Given the description of an element on the screen output the (x, y) to click on. 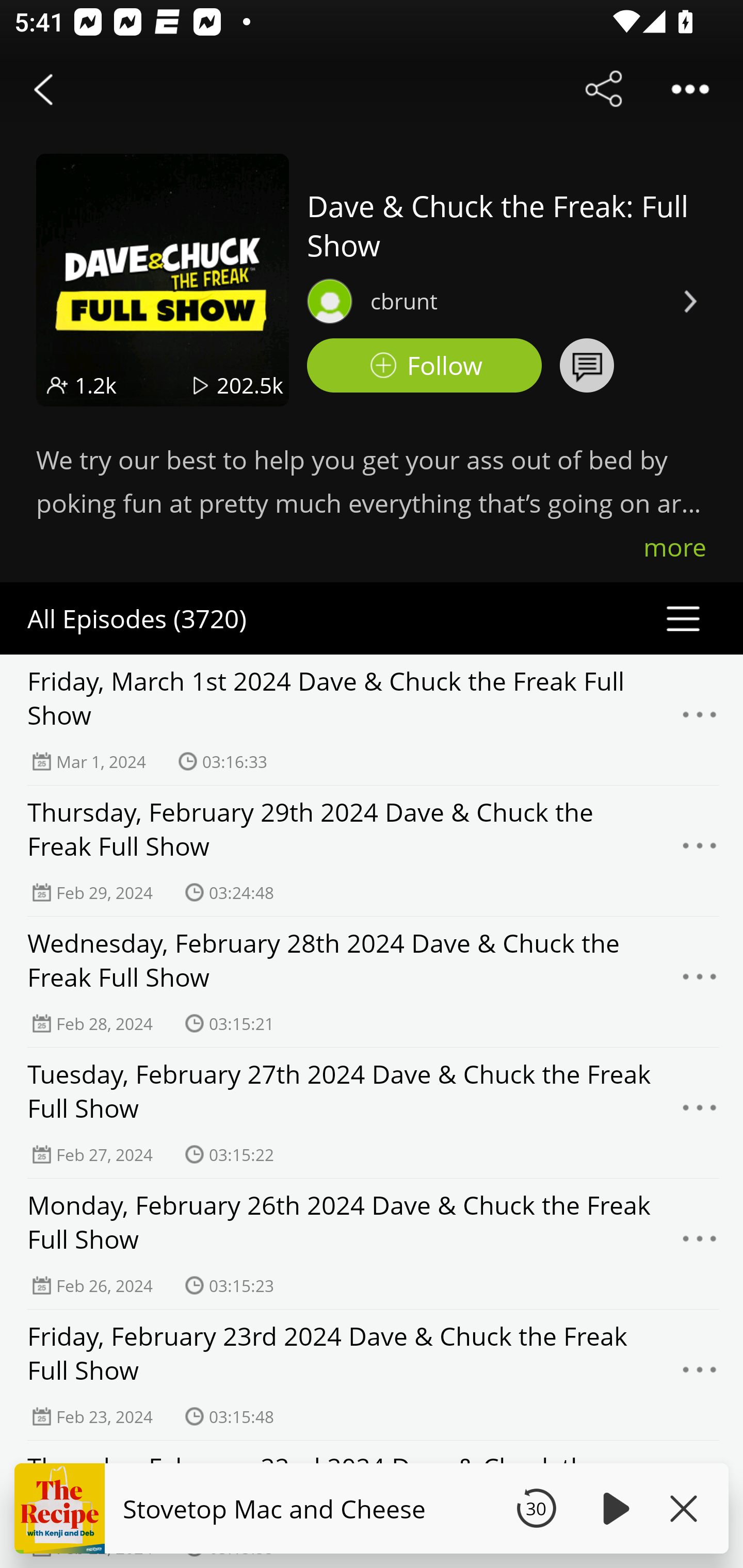
Back (43, 88)
Podbean Follow (423, 365)
1.2k (95, 384)
more (674, 546)
Menu (699, 720)
Menu (699, 850)
Menu (699, 982)
Menu (699, 1113)
Menu (699, 1244)
Menu (699, 1375)
Menu (699, 1505)
Play (613, 1507)
30 Seek Backward (536, 1508)
